Given the description of an element on the screen output the (x, y) to click on. 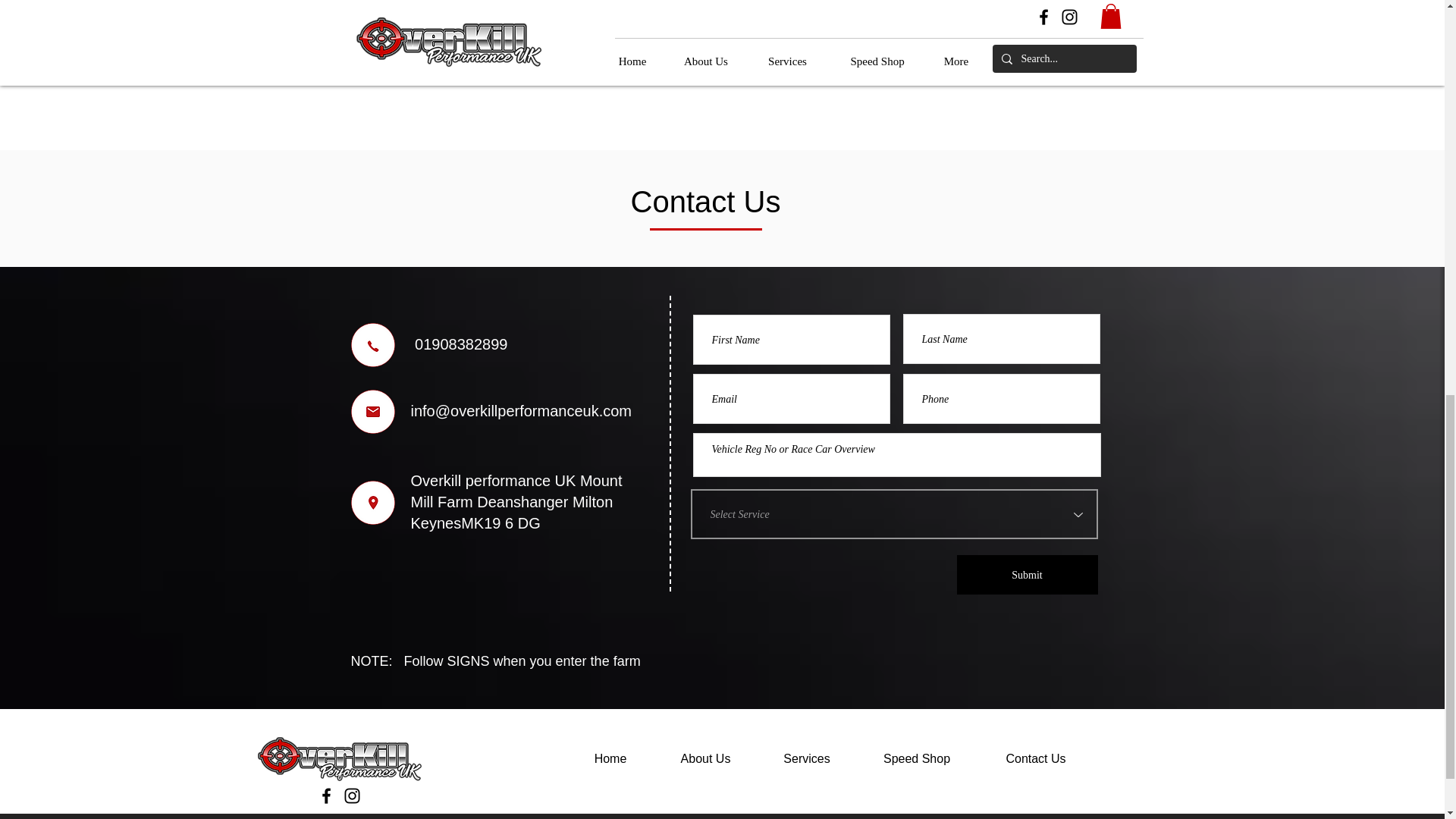
Submit (1026, 574)
About Us (705, 759)
Home (609, 759)
Services (807, 759)
